Given the description of an element on the screen output the (x, y) to click on. 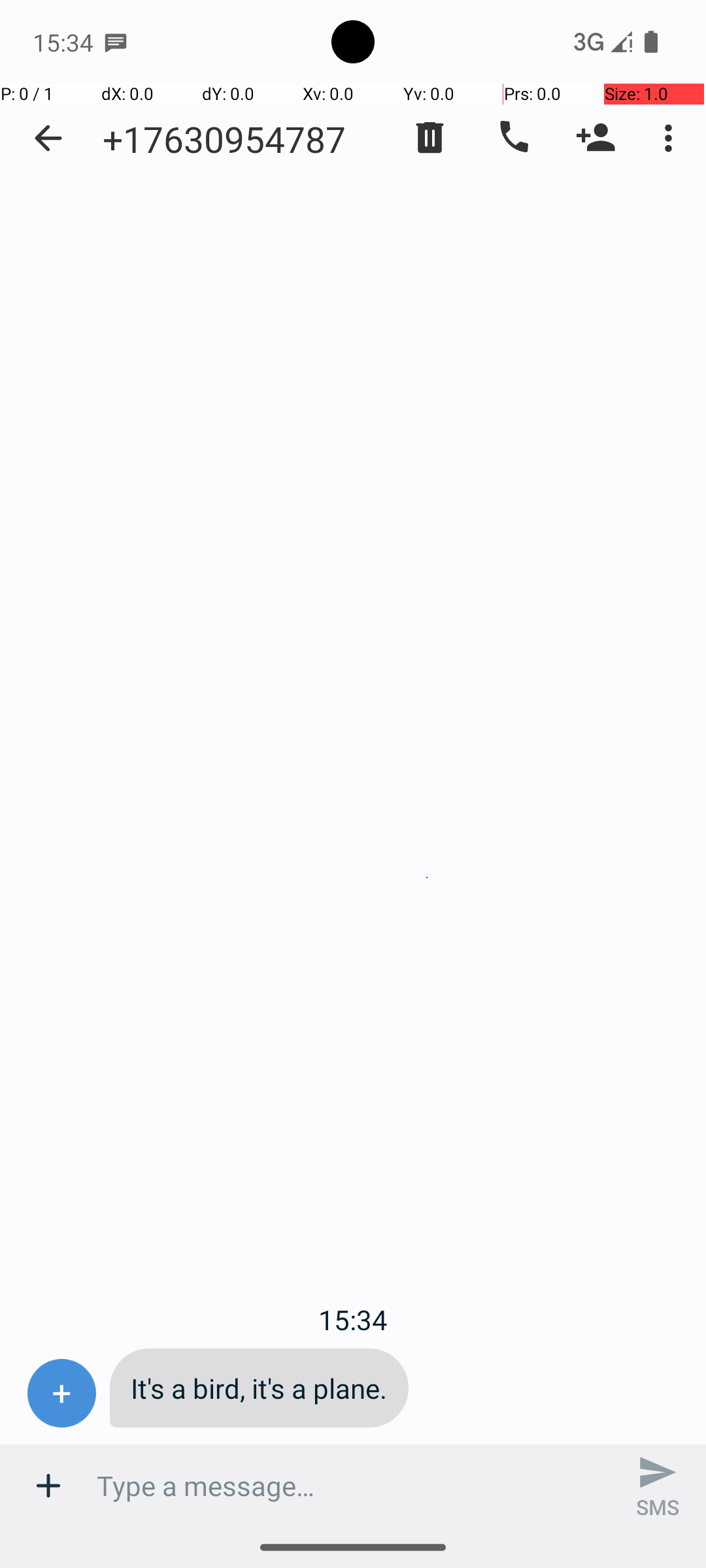
+17630954787 Element type: android.widget.TextView (223, 138)
It's a bird, it's a plane. Element type: android.widget.TextView (258, 1387)
